Given the description of an element on the screen output the (x, y) to click on. 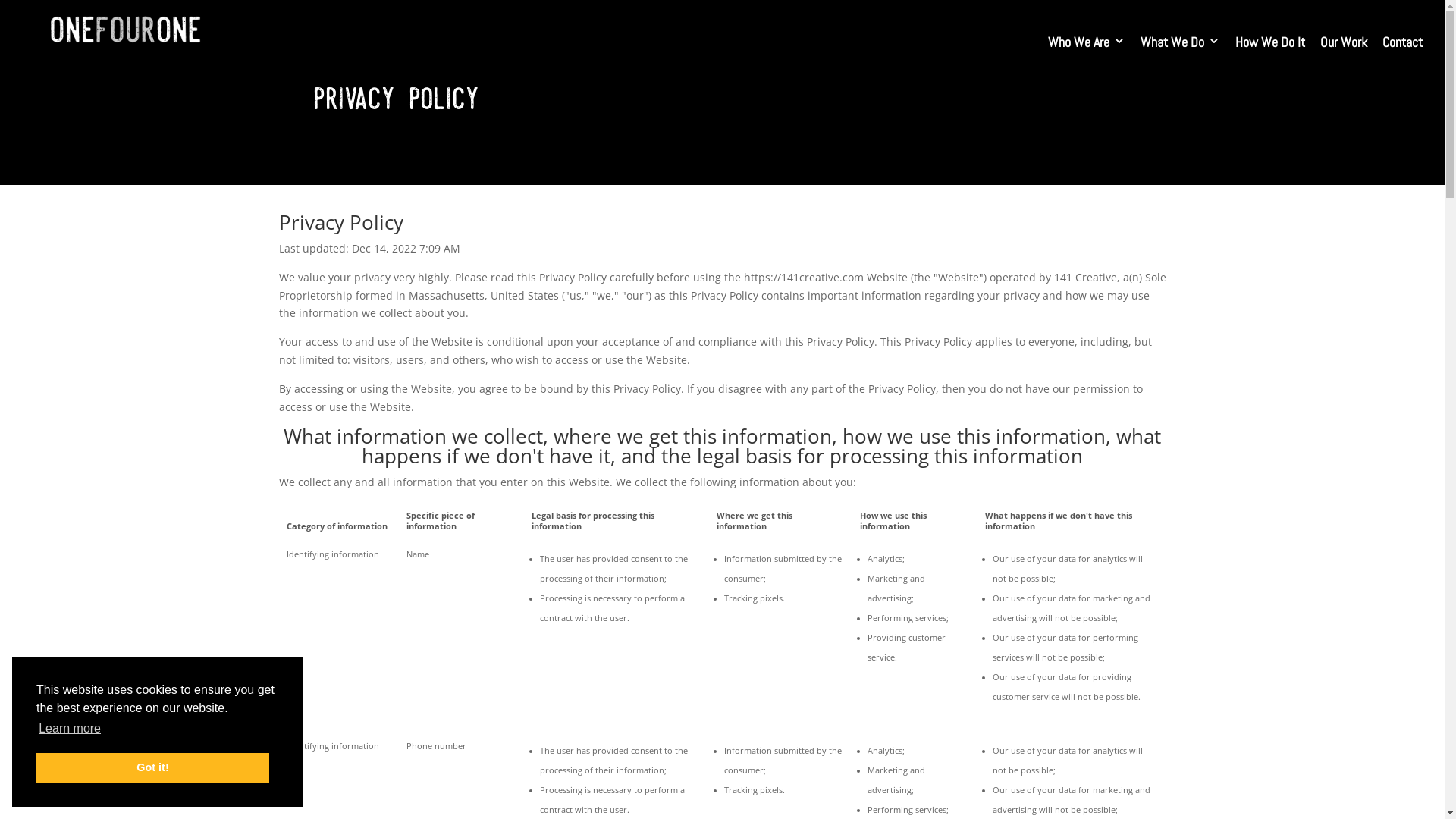
Got it! Element type: text (152, 767)
Learn more Element type: text (69, 728)
How We Do It Element type: text (1269, 42)
Contact Element type: text (1402, 42)
Who We Are Element type: text (1086, 42)
Our Work Element type: text (1343, 42)
What We Do Element type: text (1179, 42)
